Given the description of an element on the screen output the (x, y) to click on. 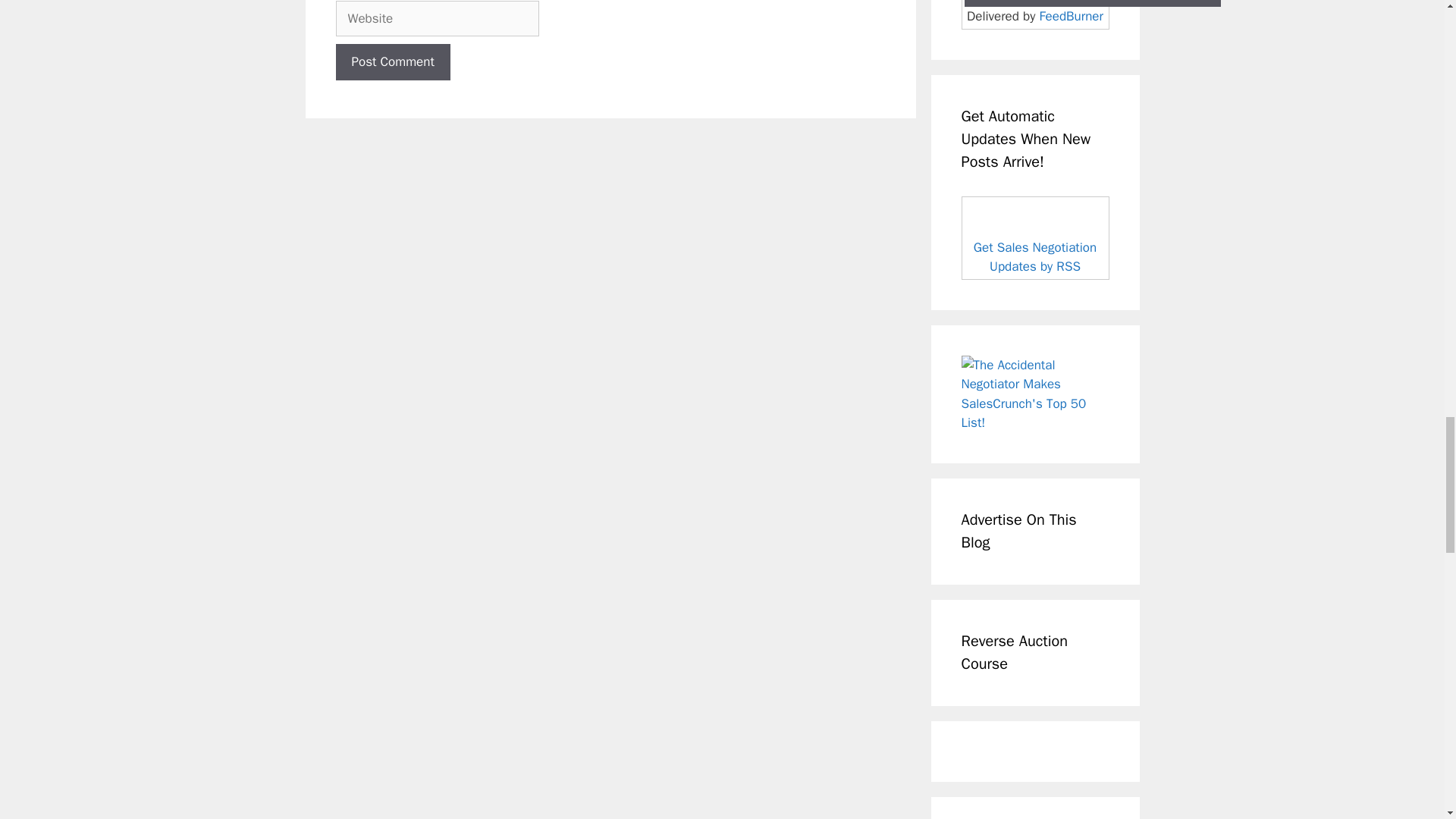
Post Comment (391, 62)
Get Sales Negotiation Updates by Email (1092, 3)
Post Comment (391, 62)
Subscribe to my feed (1034, 238)
Get Sales Negotiation Updates by RSS (1035, 257)
